Given the description of an element on the screen output the (x, y) to click on. 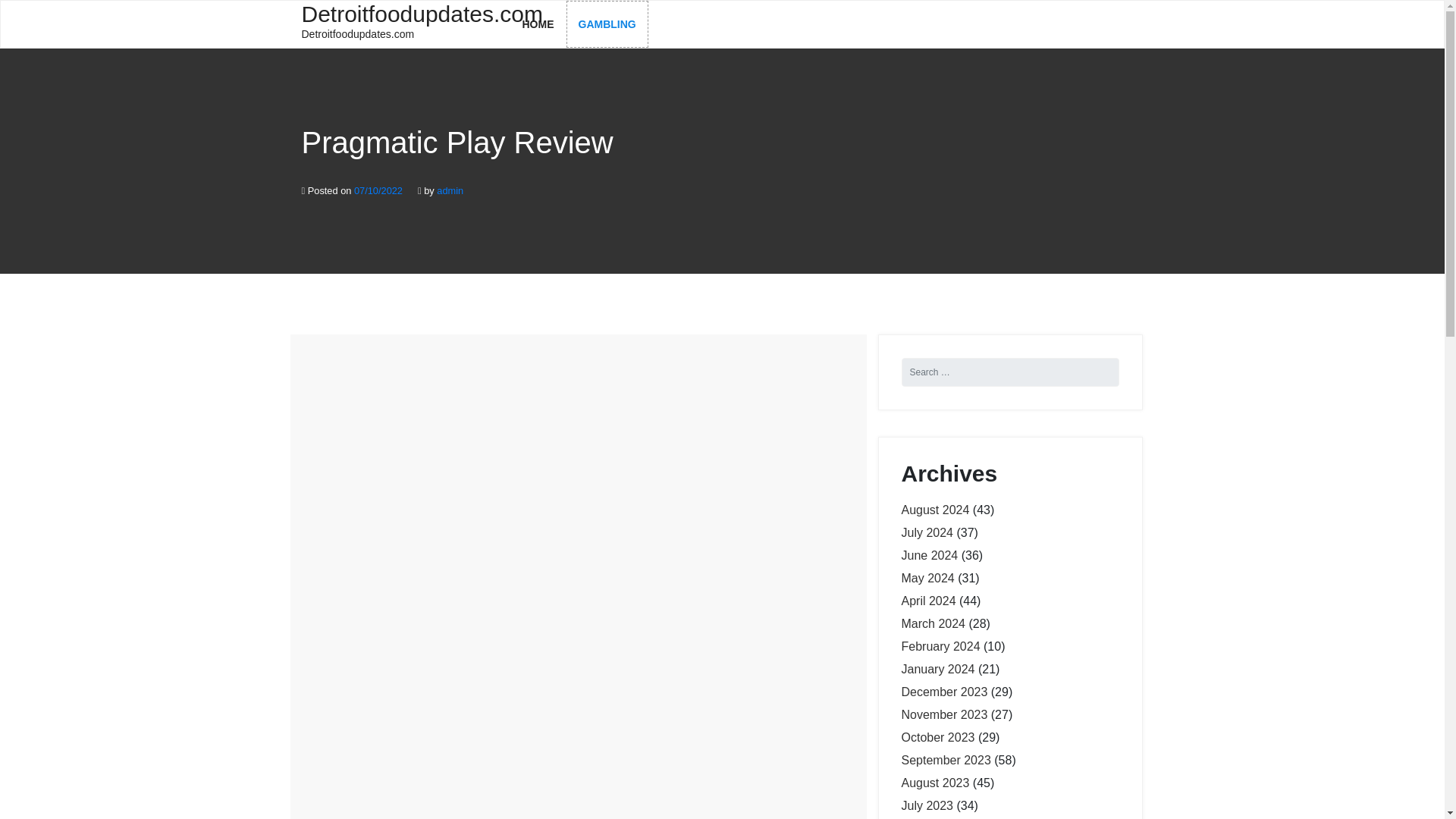
November 2023 (400, 22)
August 2023 (944, 714)
September 2023 (935, 782)
December 2023 (945, 759)
August 2024 (944, 691)
October 2023 (935, 509)
July 2023 (937, 737)
GAMBLING (927, 805)
HOME (606, 23)
